Given the description of an element on the screen output the (x, y) to click on. 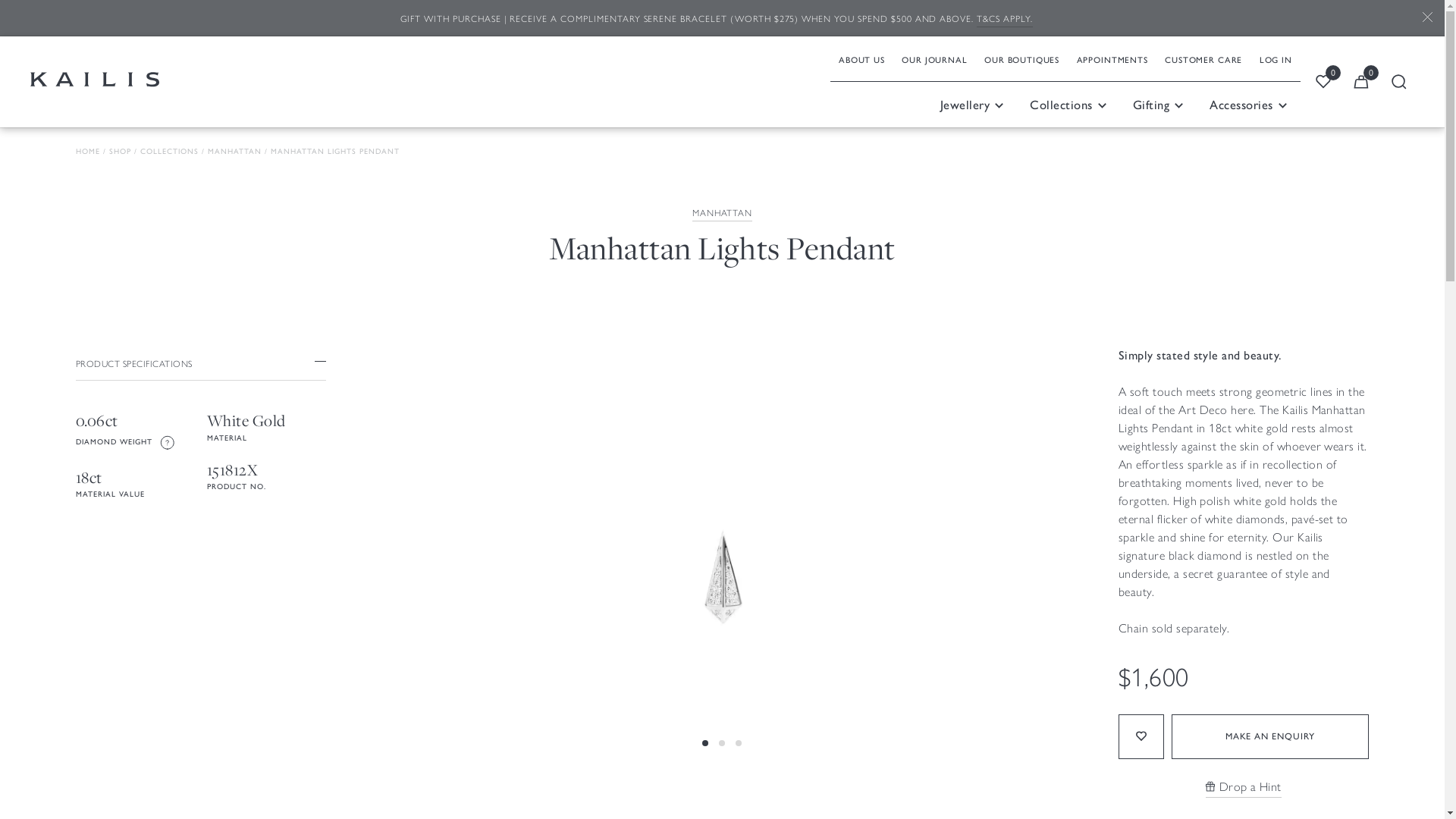
HOME Element type: text (87, 151)
Drop a Hint Element type: text (1243, 787)
CUSTOMER CARE Element type: text (1203, 58)
1 Element type: text (705, 781)
OUR JOURNAL Element type: text (934, 58)
SHOP Element type: text (120, 151)
2 Element type: text (721, 781)
OPEN WISHLIST
0 Element type: text (1323, 81)
CLOSE Element type: text (1427, 18)
MANHATTAN Element type: text (722, 213)
Jewellery Element type: text (971, 104)
T&CS APPLY. Element type: text (1004, 19)
OPEN CART
0 Element type: text (1361, 81)
Accessories Element type: text (1248, 104)
Gifting Element type: text (1158, 104)
LOG IN Element type: text (1275, 58)
APPOINTMENTS Element type: text (1111, 58)
3 Element type: text (738, 781)
MANHATTAN Element type: text (234, 151)
OPEN SEARCH Element type: text (1398, 81)
Collections Element type: text (1068, 104)
MAKE AN ENQUIRY Element type: text (1269, 736)
OUR BOUTIQUES Element type: text (1021, 58)
ABOUT US Element type: text (861, 58)
COLLECTIONS Element type: text (169, 151)
